Given the description of an element on the screen output the (x, y) to click on. 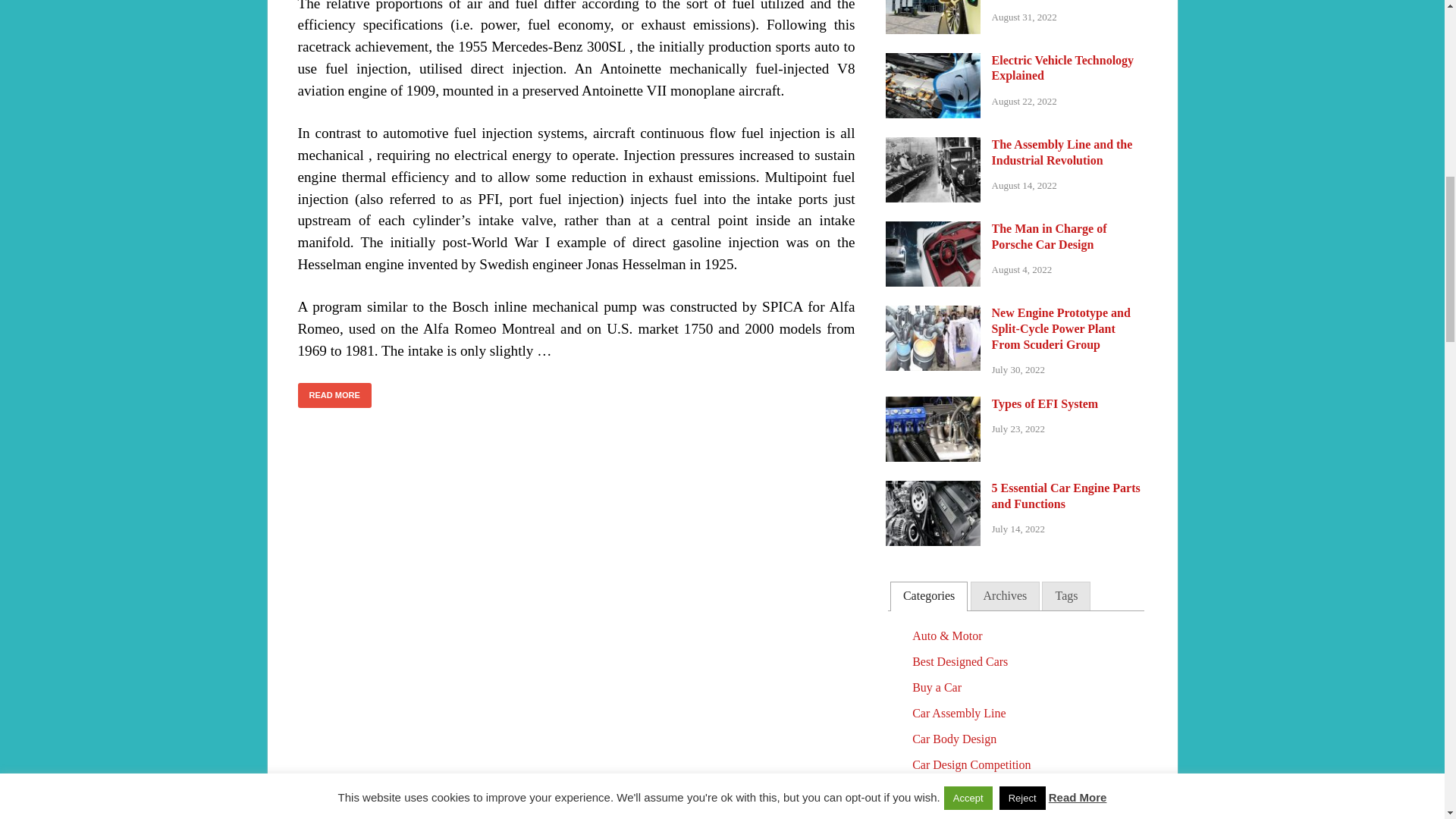
The Assembly Line and the Industrial Revolution (932, 145)
5 Essential Car Engine Parts and Functions (932, 489)
Electric Vehicle Technology Explained (932, 61)
The Man in Charge of Porsche Car Design (932, 229)
Types of EFI System (932, 404)
